Given the description of an element on the screen output the (x, y) to click on. 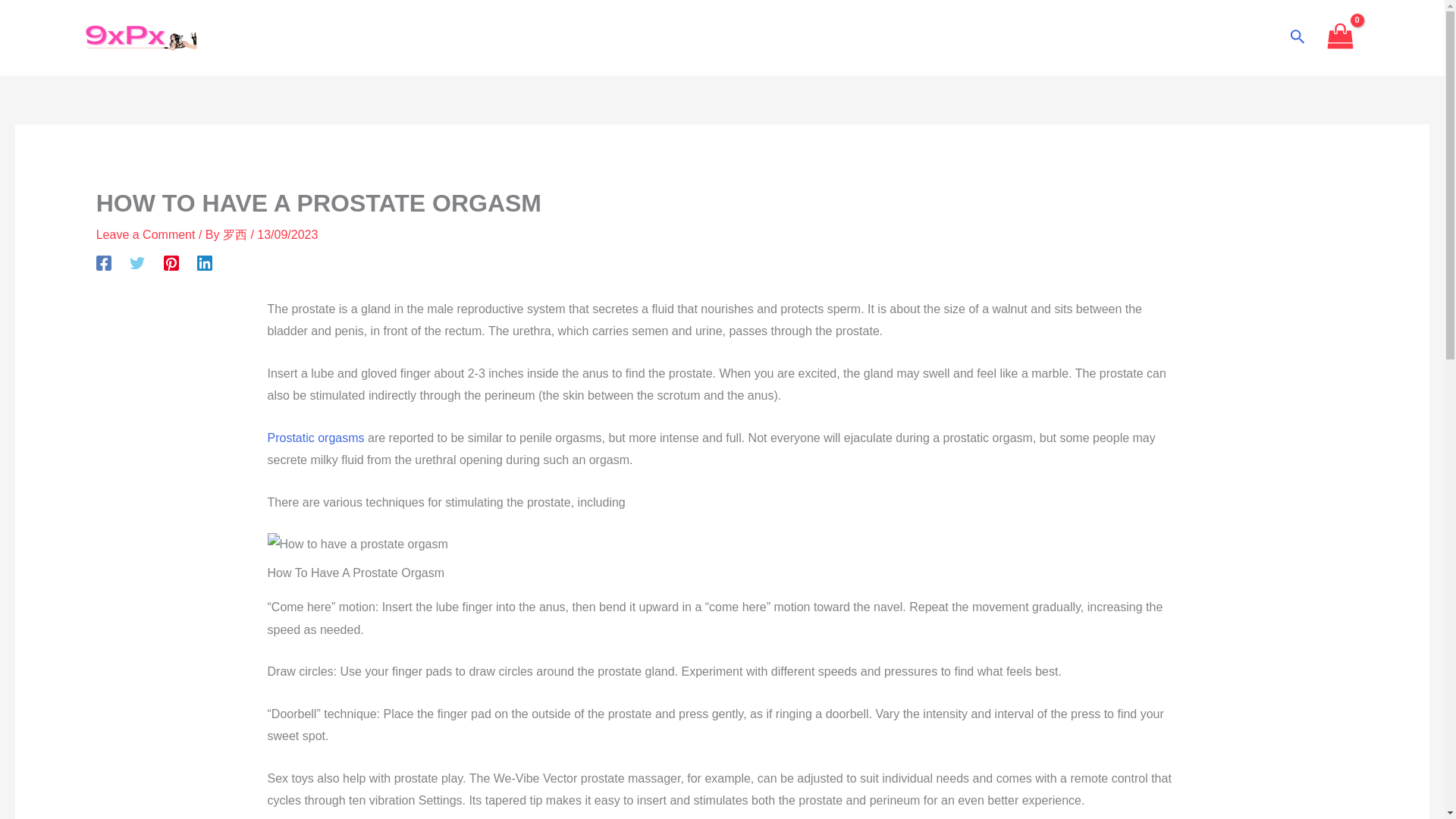
FOR MEN (675, 38)
BDSM (893, 38)
SEXY LINGERIE (789, 38)
FOR WOMEN (570, 38)
